Given the description of an element on the screen output the (x, y) to click on. 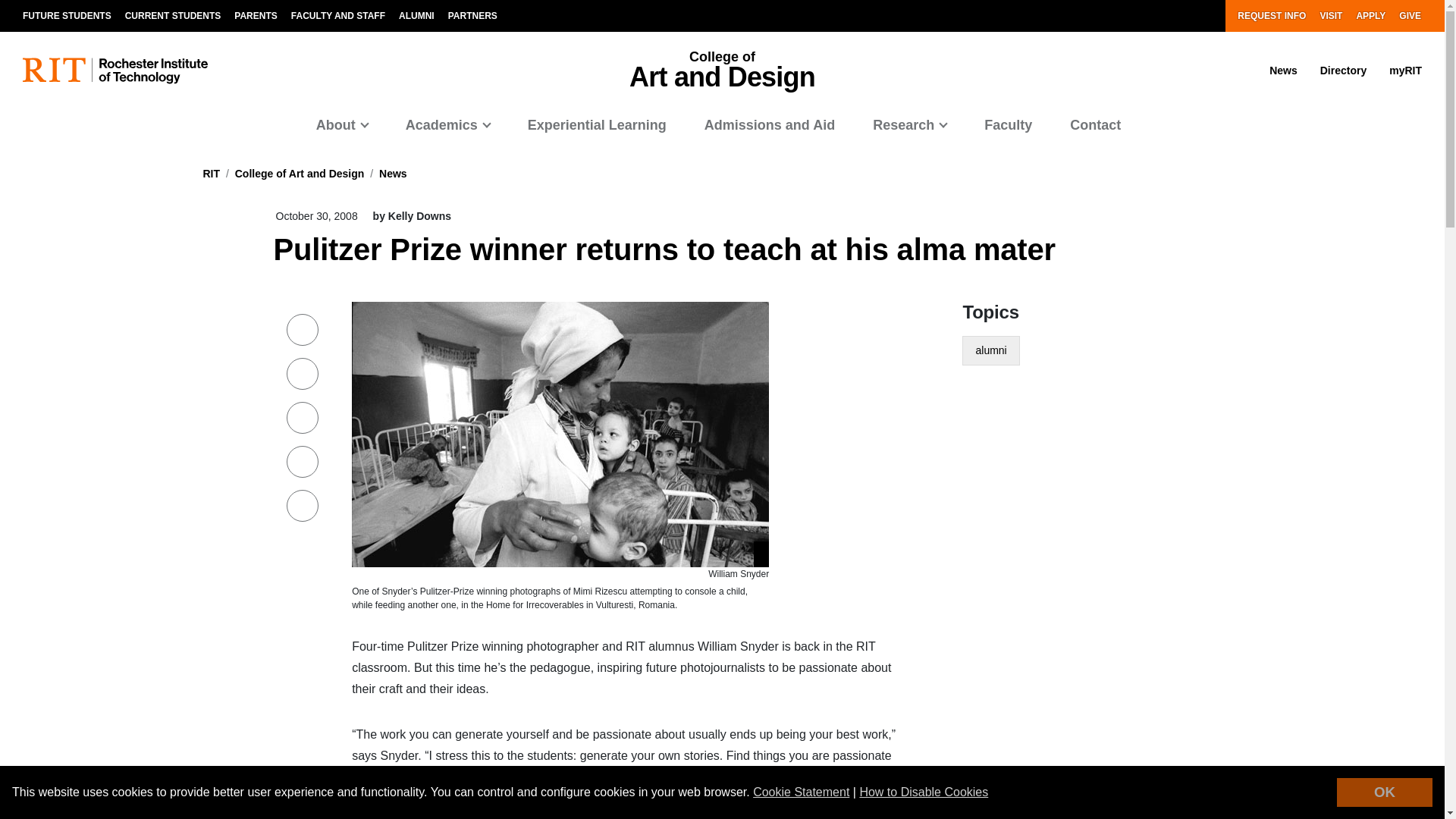
RIT logo and full name (115, 70)
